Given the description of an element on the screen output the (x, y) to click on. 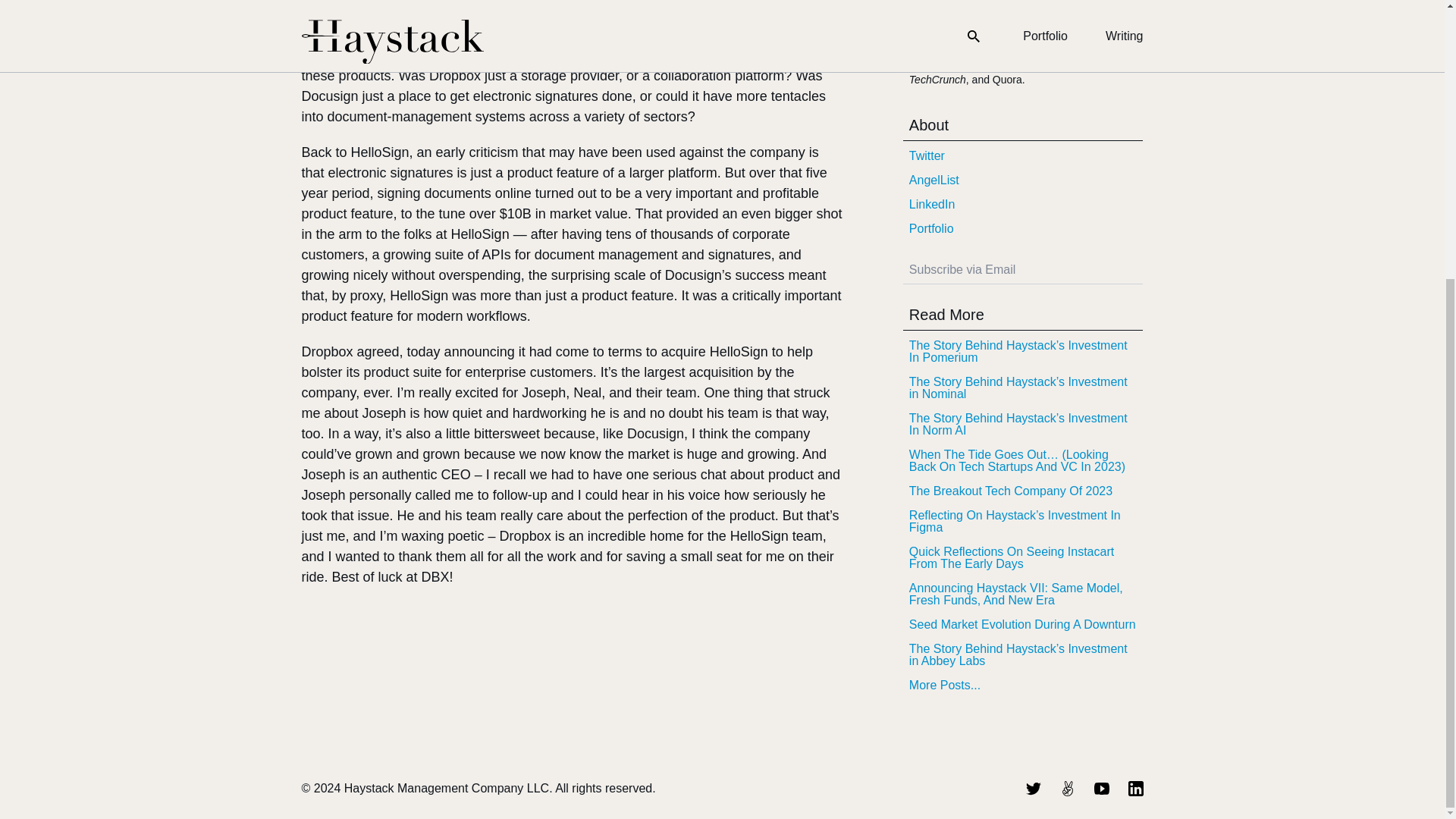
Subscribe (1133, 269)
AngelList (1022, 180)
LinkedIn (1022, 204)
Portfolio (1022, 228)
The Breakout Tech Company Of 2023 (1022, 491)
Seed Market Evolution During A Downturn (1022, 624)
In early 2014, Docusign became a unicorn (564, 11)
Twitter (1022, 156)
More Posts... (1022, 685)
Subscribe (1133, 269)
Quick Reflections On Seeing Instacart From The Early Days (1022, 557)
